Given the description of an element on the screen output the (x, y) to click on. 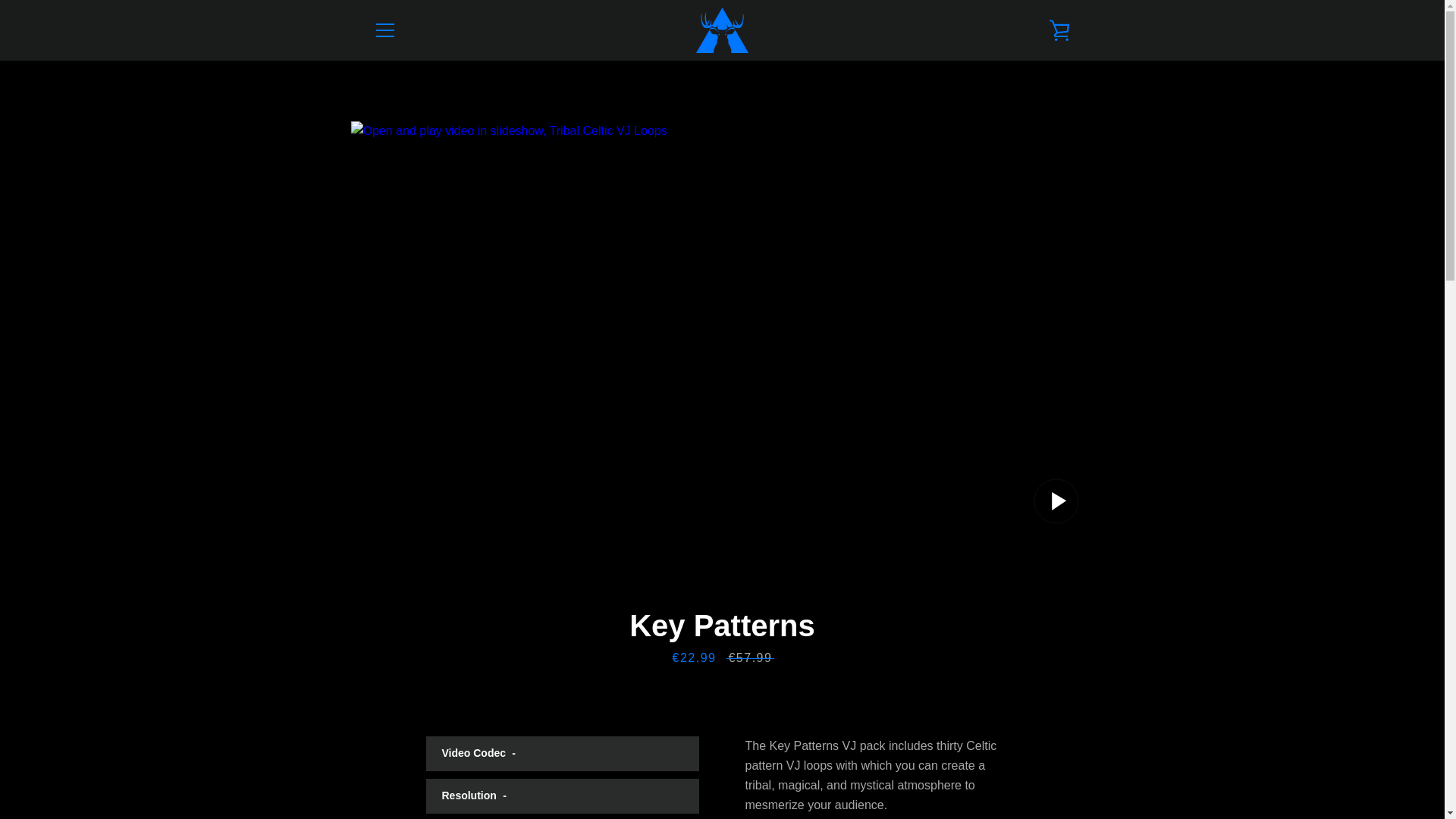
VIEW CART (1059, 30)
MENU (384, 30)
